Given the description of an element on the screen output the (x, y) to click on. 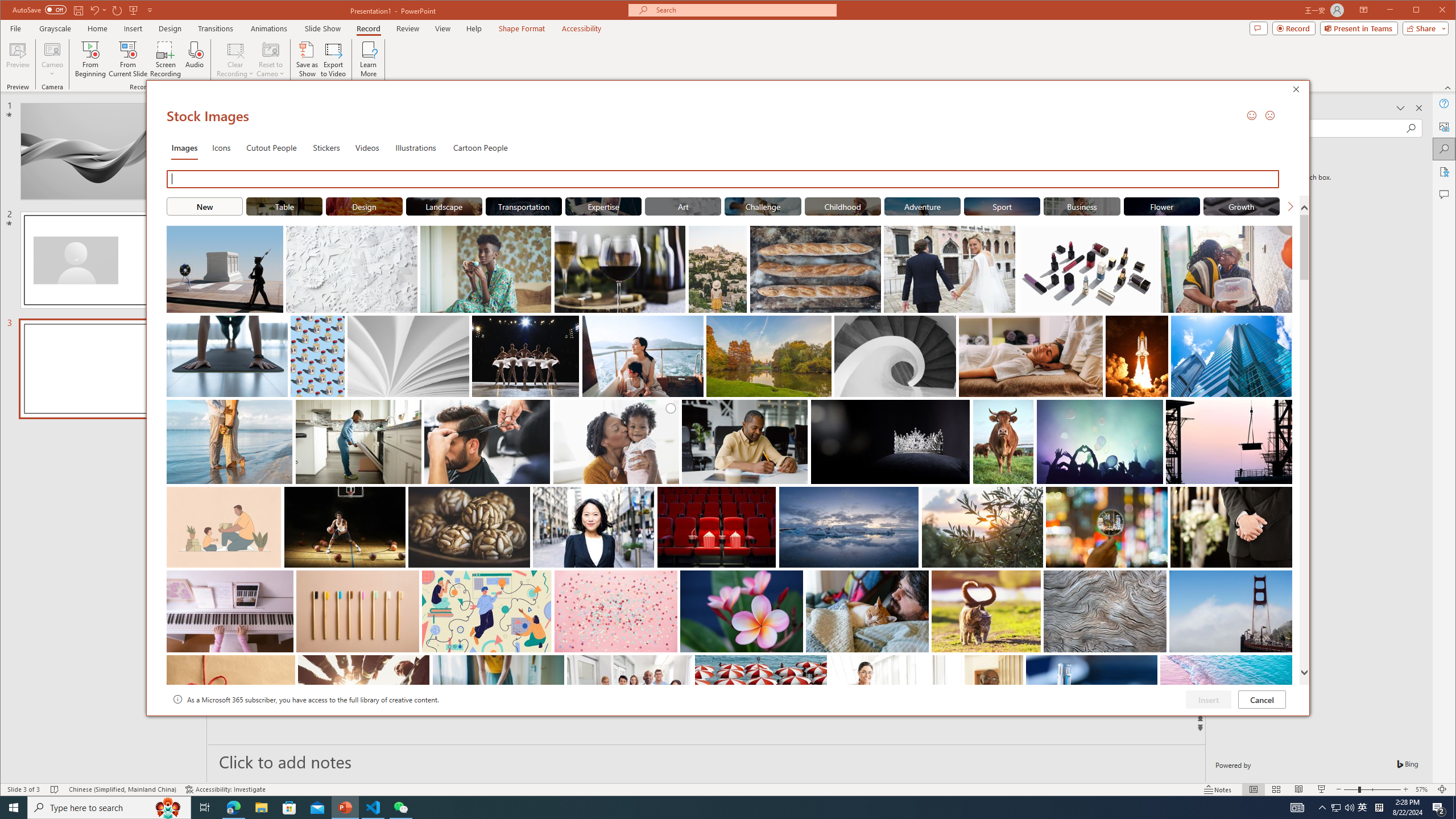
"Flower" Stock Images. (1161, 206)
"Business" Stock Images. (1082, 206)
Icons (220, 147)
